Given the description of an element on the screen output the (x, y) to click on. 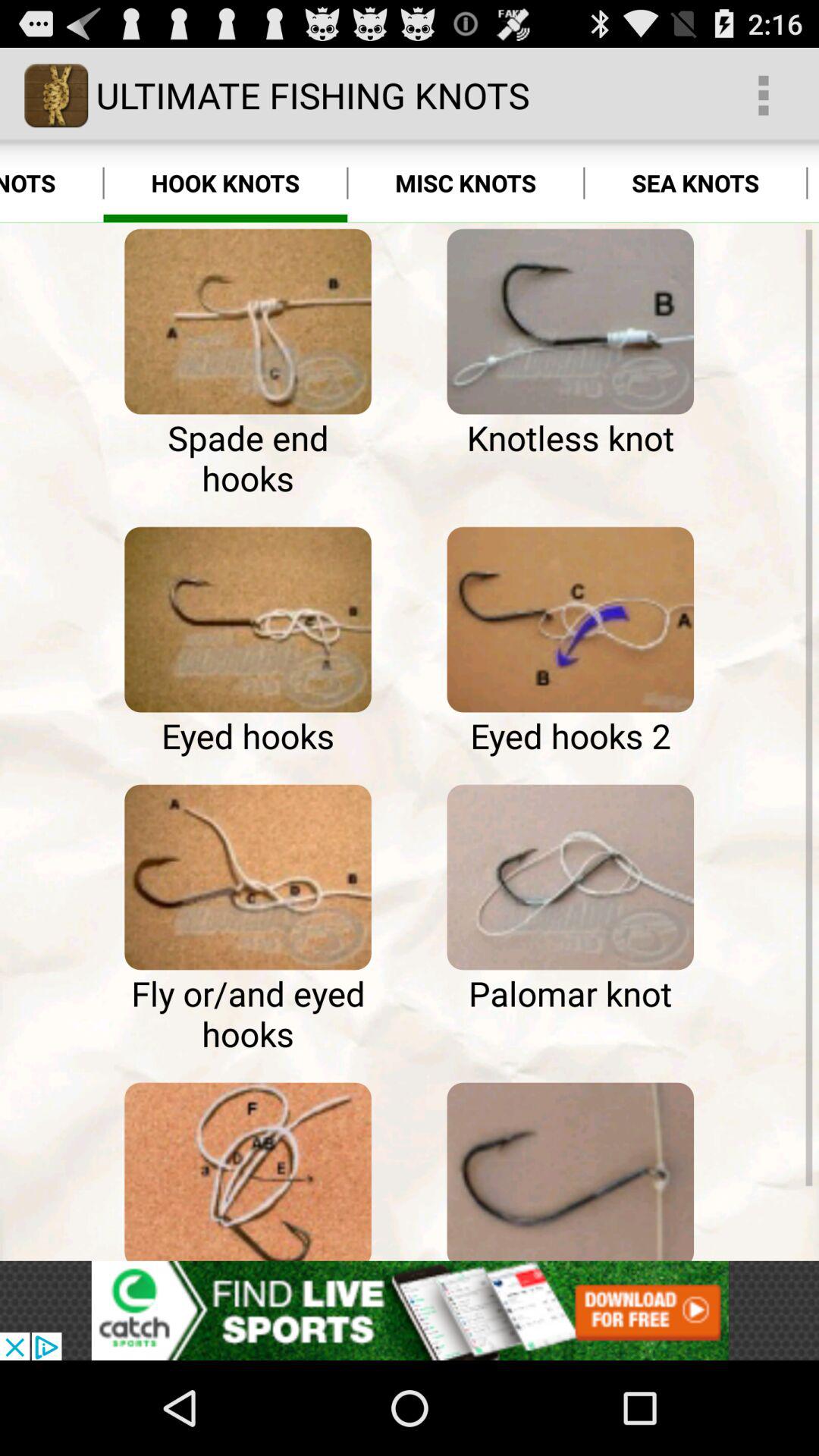
eyed hooks (247, 619)
